Given the description of an element on the screen output the (x, y) to click on. 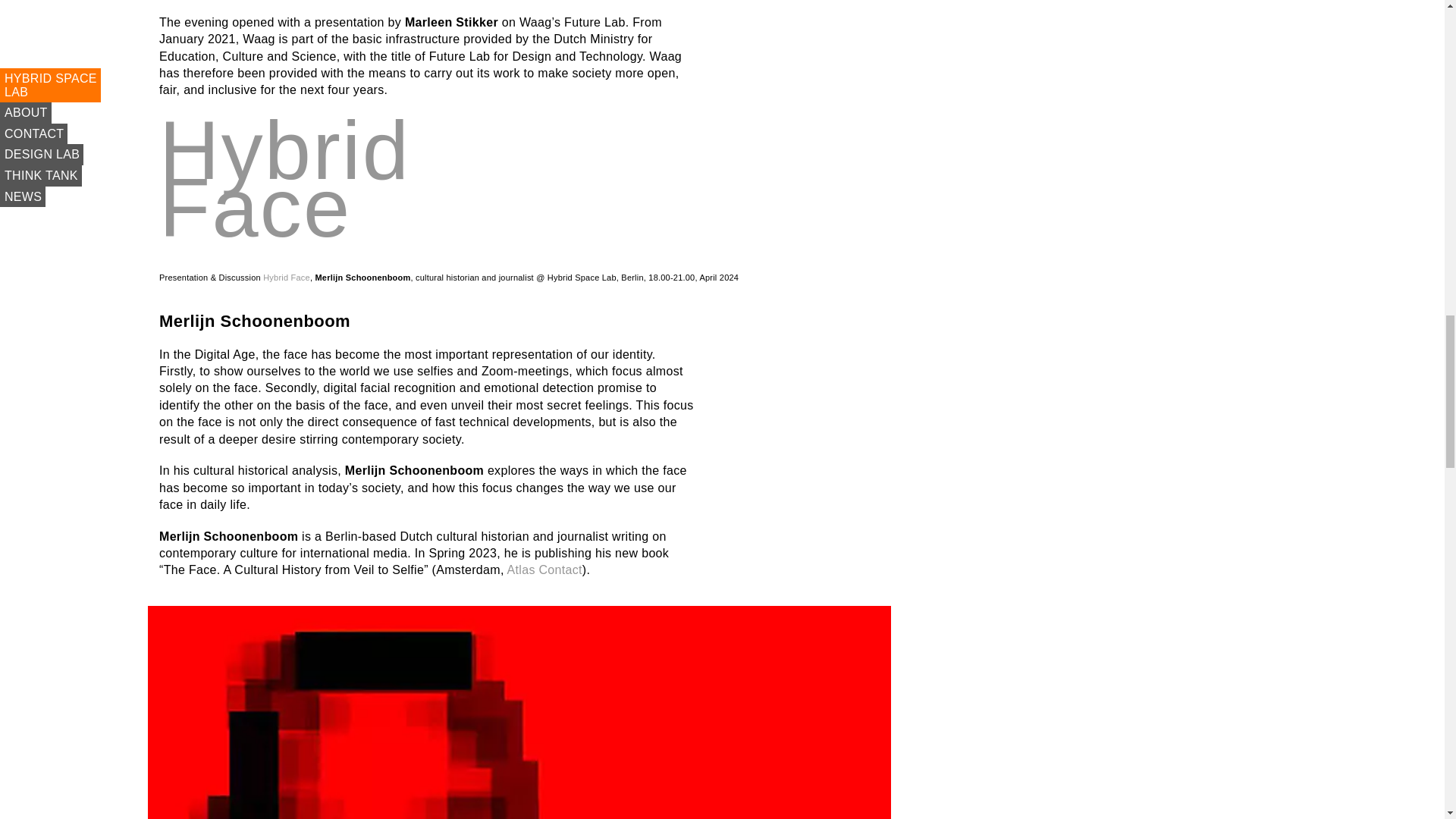
Hybrid Face (284, 203)
Atlas Contact (286, 276)
